Given the description of an element on the screen output the (x, y) to click on. 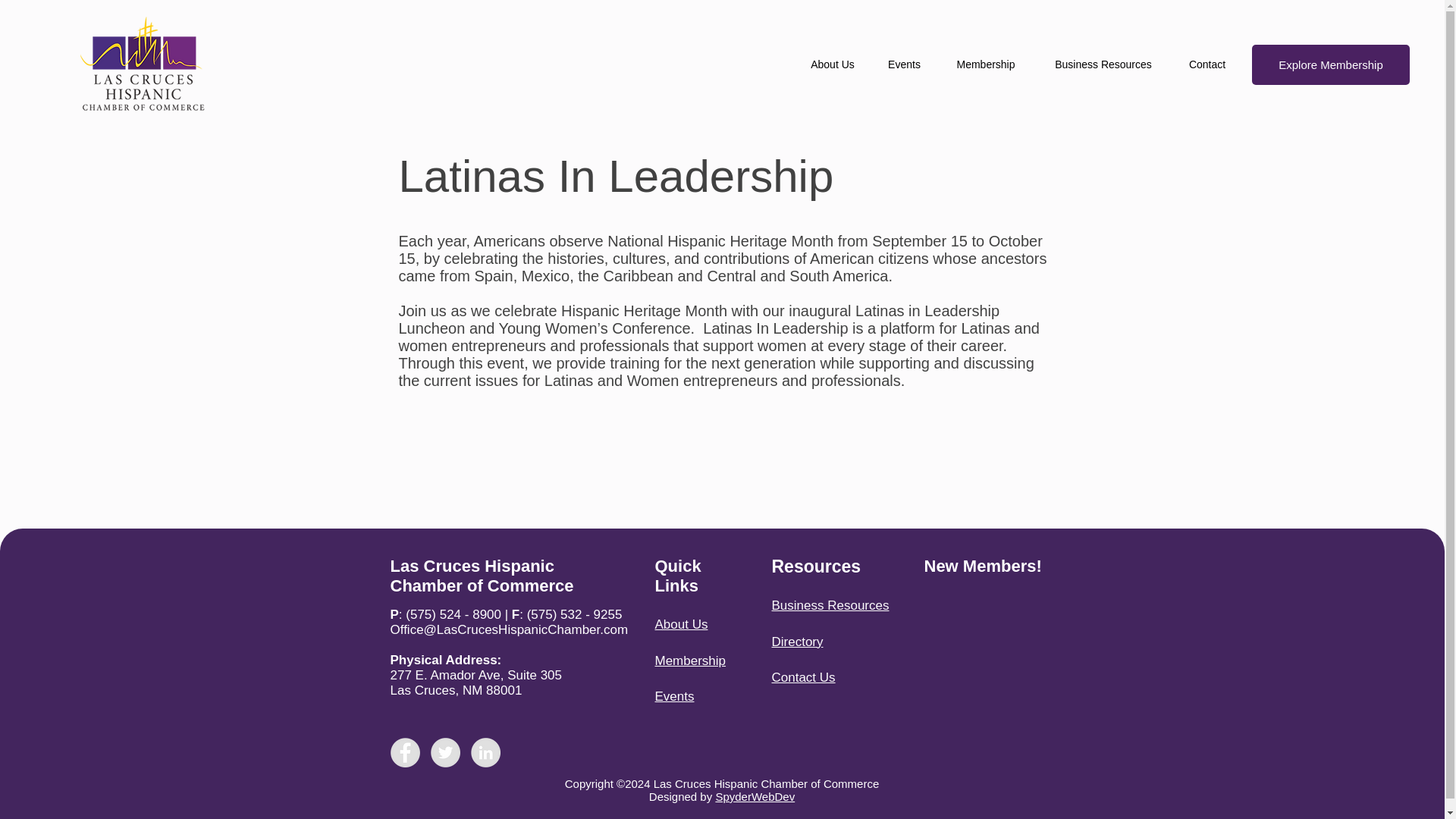
About Us (832, 65)
About Us (681, 624)
Events (674, 696)
Business Resources (830, 605)
Explore Membership (1330, 65)
Contact Us (803, 677)
Contact (1207, 65)
Membership (985, 65)
New Members! (982, 565)
Business Resources (1103, 65)
Membership (690, 660)
SpyderWebDev (754, 796)
Directory (797, 641)
Embedded Content (988, 645)
Events (904, 65)
